Given the description of an element on the screen output the (x, y) to click on. 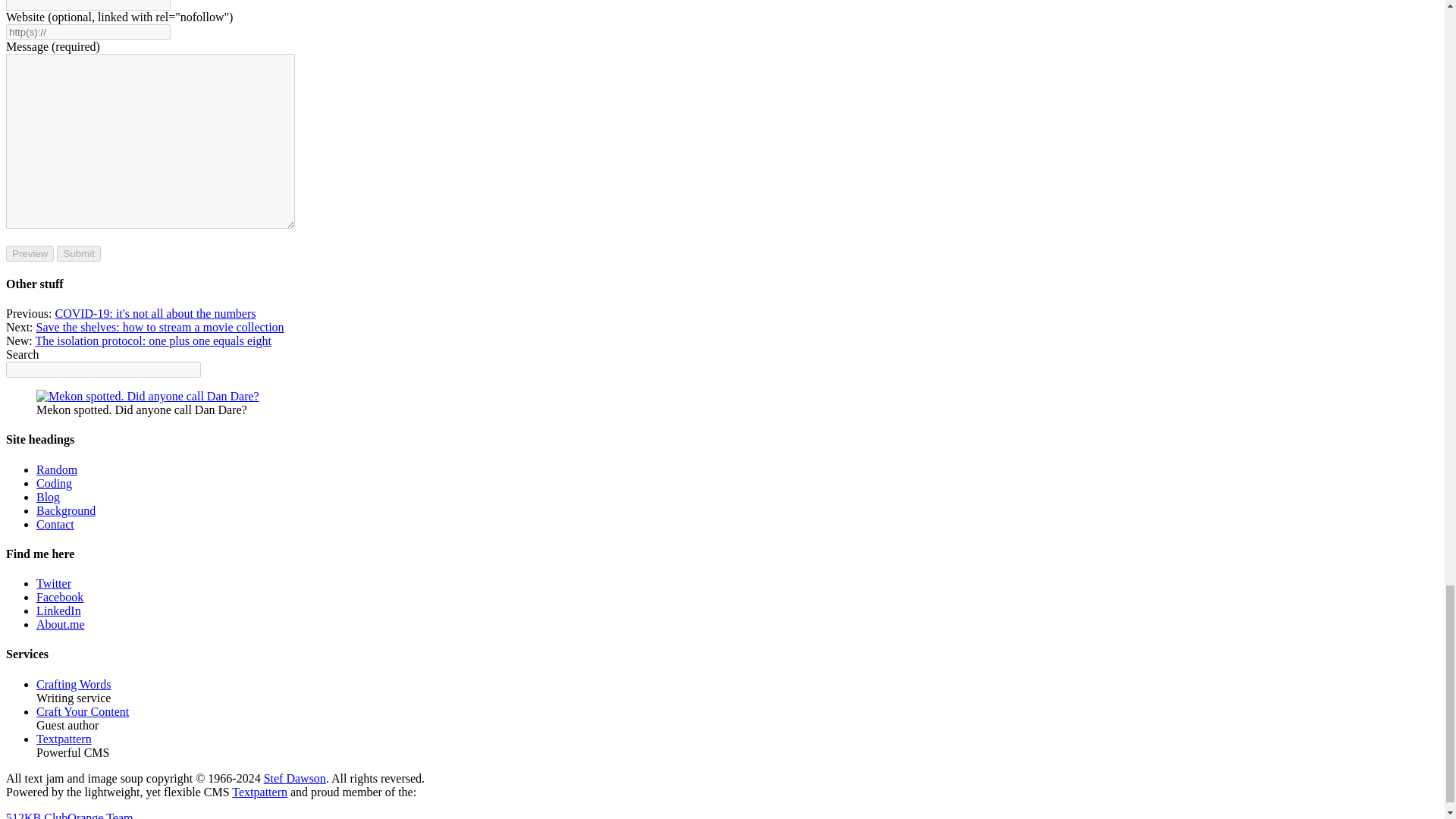
Preview (29, 252)
Submit (78, 252)
COVID-19: it's not all about the numbers (155, 313)
Random (56, 469)
The isolation protocol: one plus one equals eight (152, 340)
Preview (29, 252)
Blog (47, 496)
Save the shelves: how to stream a movie collection (159, 327)
Coding (53, 482)
Mekon spotted. Did anyone call Dan Dare? (147, 396)
Submit (78, 252)
